Given the description of an element on the screen output the (x, y) to click on. 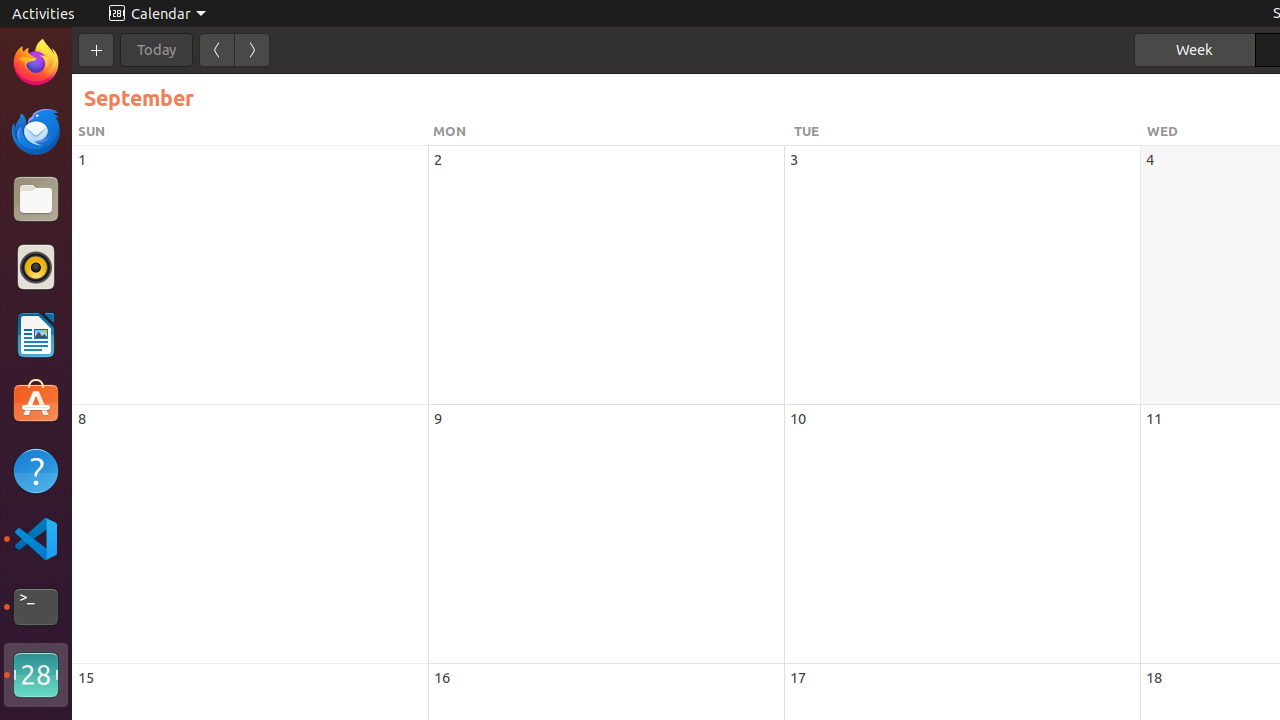
16 Element type: label (442, 677)
17 Element type: label (798, 677)
